Given the description of an element on the screen output the (x, y) to click on. 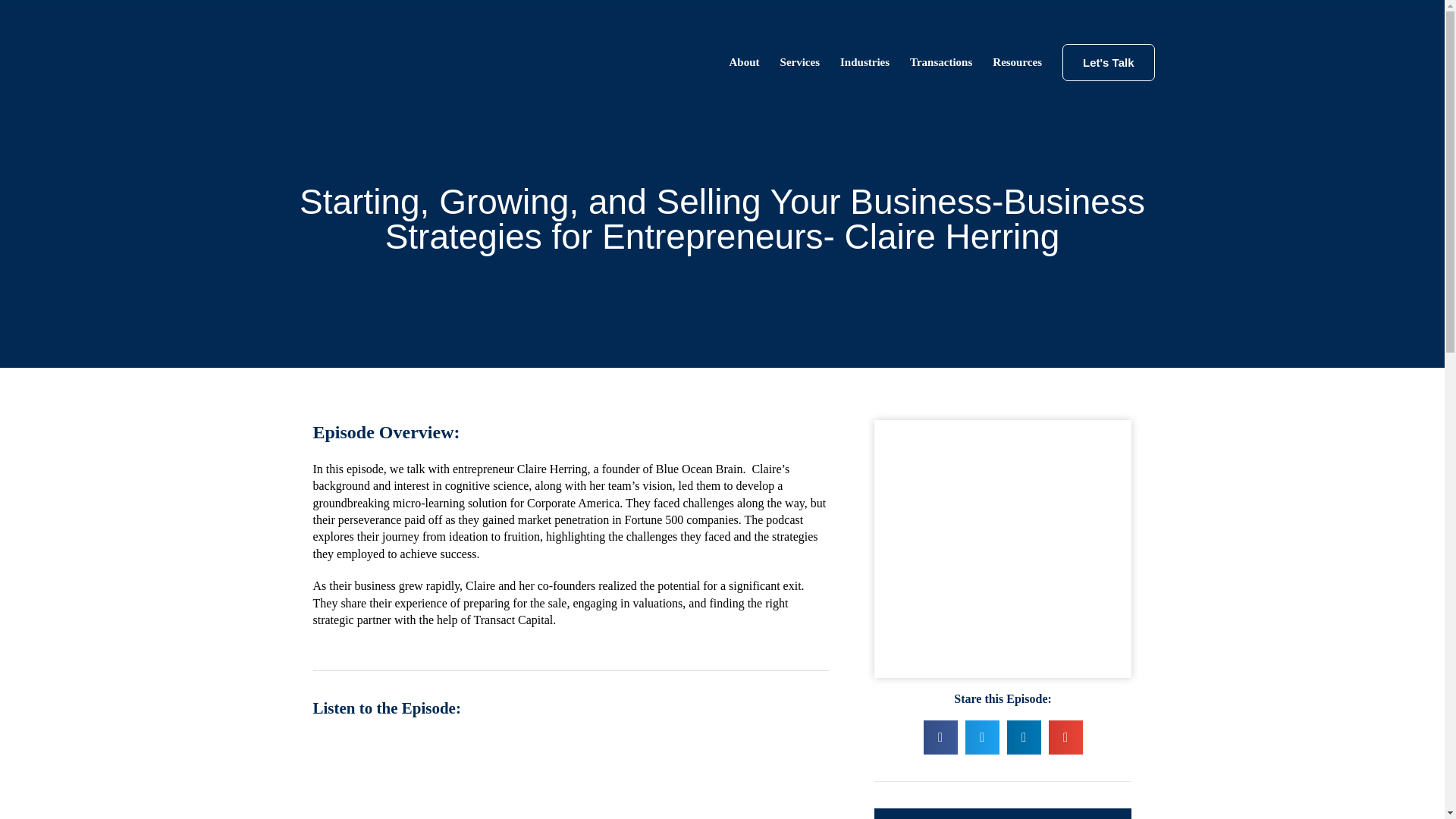
Industries (864, 62)
Subscribe on Apple Podcasts (1003, 813)
About (744, 62)
Services (799, 62)
Transactions (940, 62)
Resources (1016, 62)
Embed Player (570, 777)
Let's Talk (1108, 62)
